Given the description of an element on the screen output the (x, y) to click on. 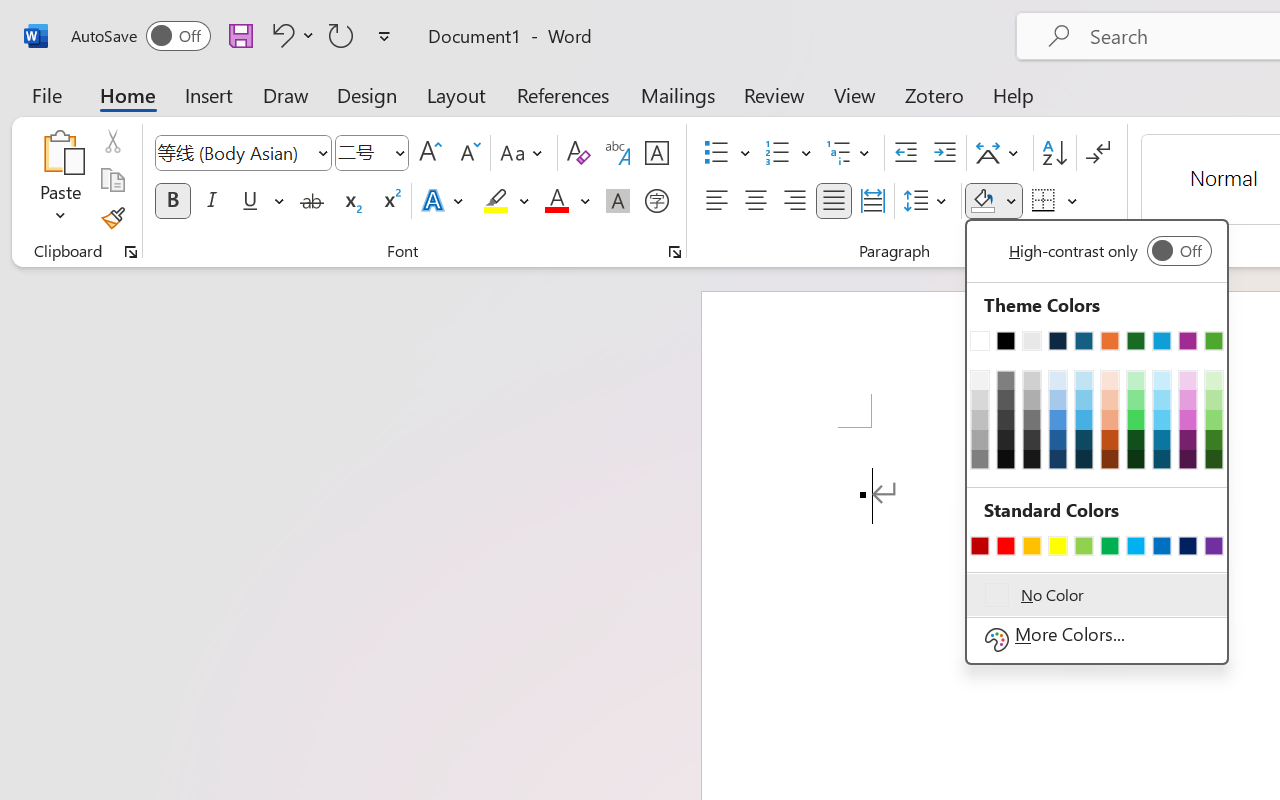
Repeat Style (341, 35)
